Given the description of an element on the screen output the (x, y) to click on. 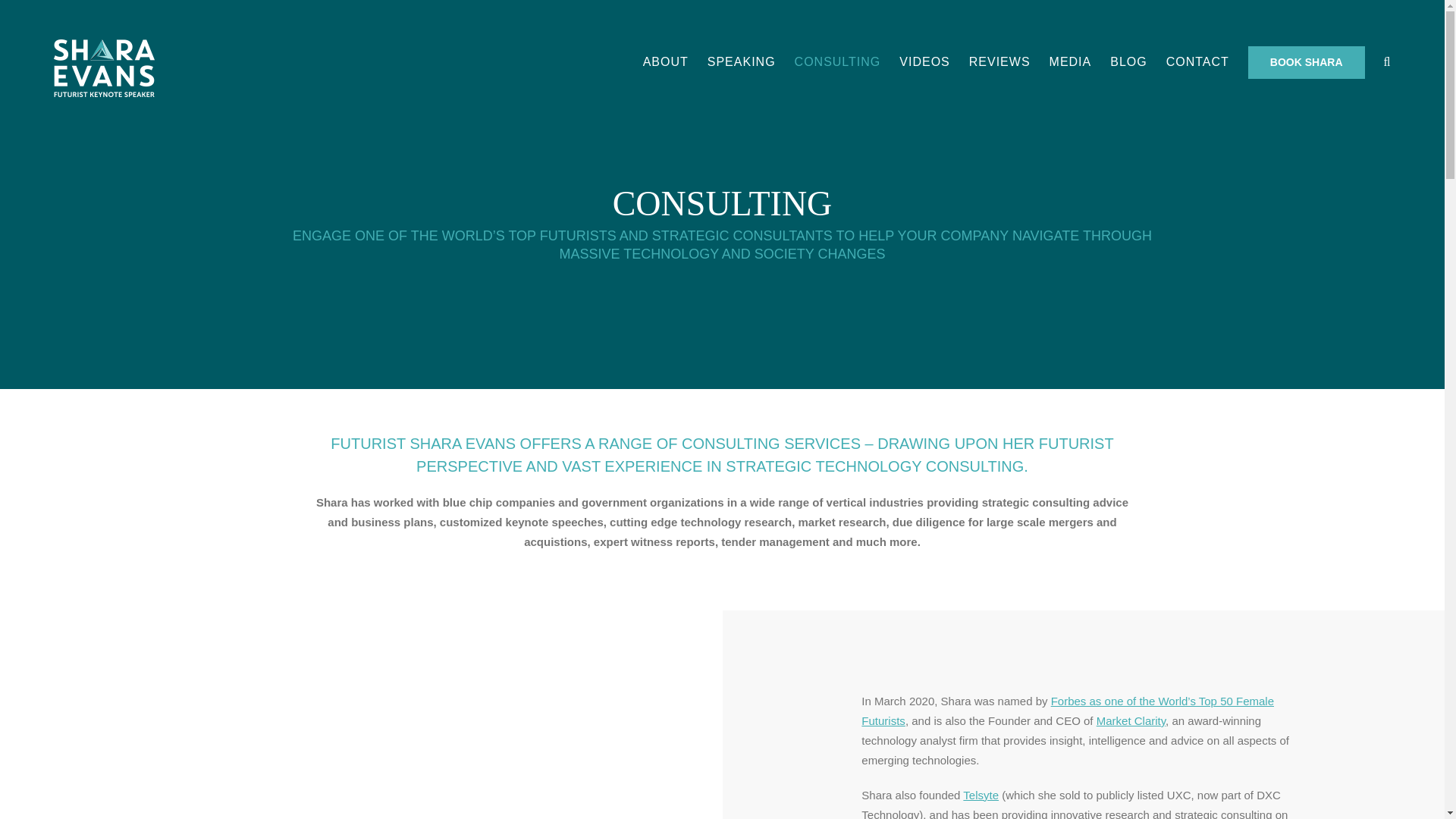
BOOK SHARA (1306, 61)
CONSULTING (837, 61)
SPEAKING (741, 61)
